Given the description of an element on the screen output the (x, y) to click on. 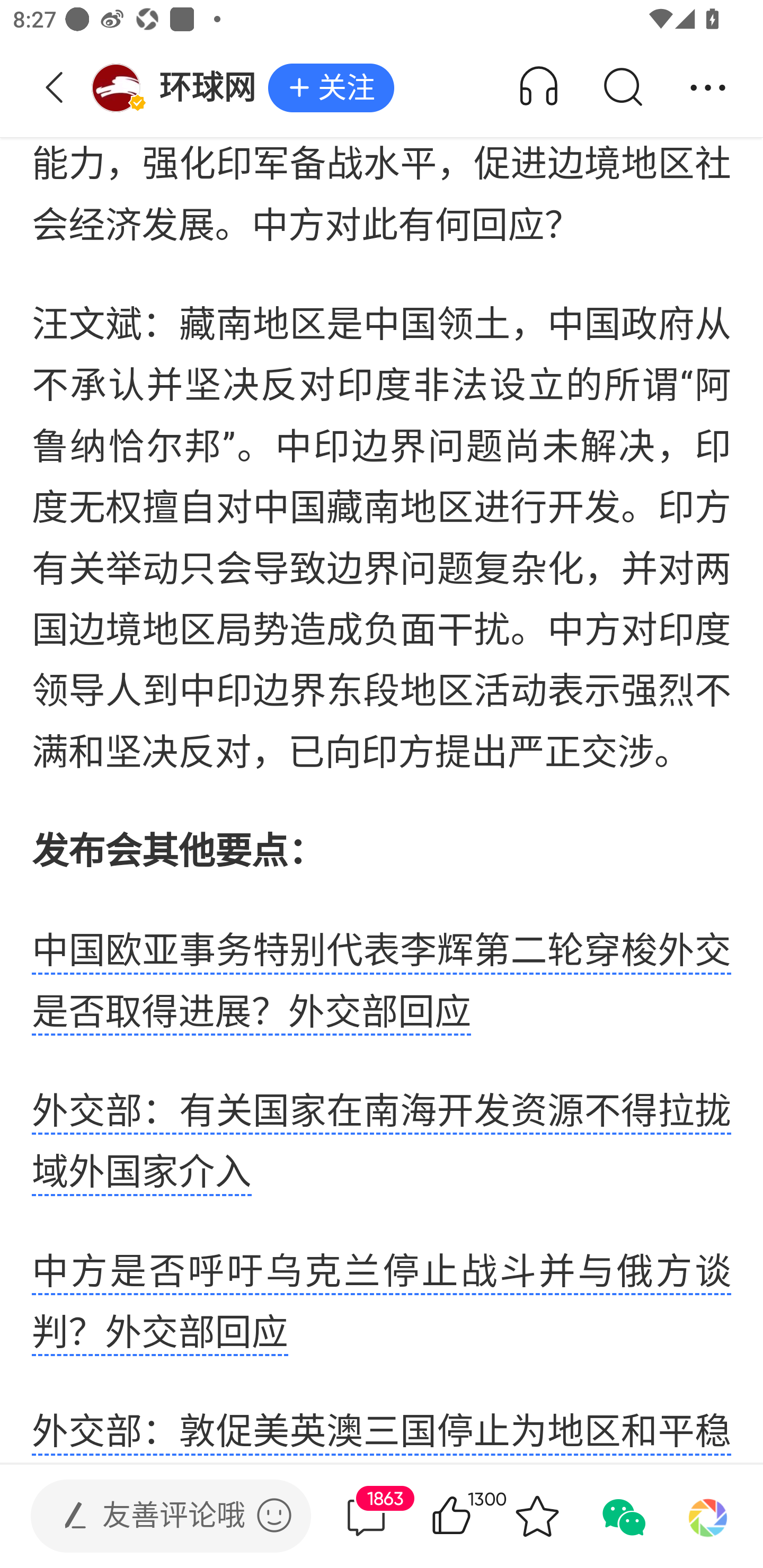
环球网 (179, 87)
搜索  (622, 87)
分享  (707, 87)
 返回 (54, 87)
 关注 (330, 88)
中国欧亚事务特别代表李辉第二轮穿梭外交是否取得进展？外交部回应 (381, 983)
外交部：有关国家在南海开发资源不得拉拢域外国家介入 (381, 1143)
中方是否呼吁乌克兰停止战斗并与俄方谈判？外交部回应 (381, 1305)
发表评论  友善评论哦 发表评论  (155, 1516)
1863评论  1863 评论 (365, 1516)
1300赞 (476, 1516)
收藏  (536, 1516)
分享到微信  (622, 1516)
分享到朋友圈 (707, 1516)
 (274, 1515)
